Given the description of an element on the screen output the (x, y) to click on. 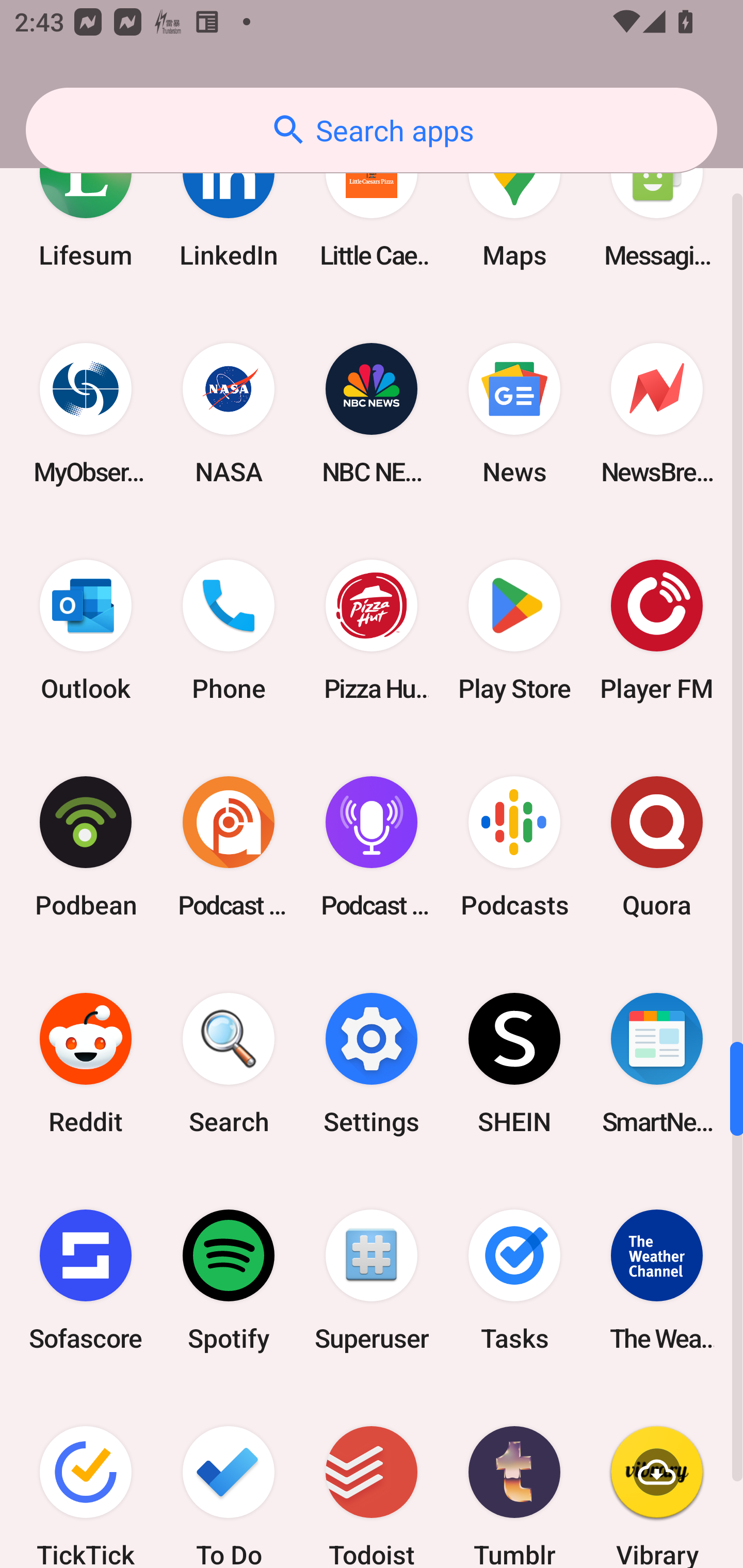
  Search apps (371, 130)
Lifesum (85, 204)
LinkedIn (228, 204)
Little Caesars Pizza (371, 204)
Maps (514, 204)
Messaging (656, 204)
MyObservatory (85, 413)
NASA (228, 413)
NBC NEWS (371, 413)
News (514, 413)
NewsBreak (656, 413)
Outlook (85, 630)
Phone (228, 630)
Pizza Hut HK & Macau (371, 630)
Play Store (514, 630)
Player FM (656, 630)
Podbean (85, 846)
Podcast Addict (228, 846)
Podcast Player (371, 846)
Podcasts (514, 846)
Quora (656, 846)
Reddit (85, 1062)
Search (228, 1062)
Settings (371, 1062)
SHEIN (514, 1062)
SmartNews (656, 1062)
Sofascore (85, 1280)
Spotify (228, 1280)
Superuser (371, 1280)
Tasks (514, 1280)
The Weather Channel (656, 1280)
TickTick (85, 1478)
To Do (228, 1478)
Todoist (371, 1478)
Tumblr (514, 1478)
Vibrary (656, 1478)
